Given the description of an element on the screen output the (x, y) to click on. 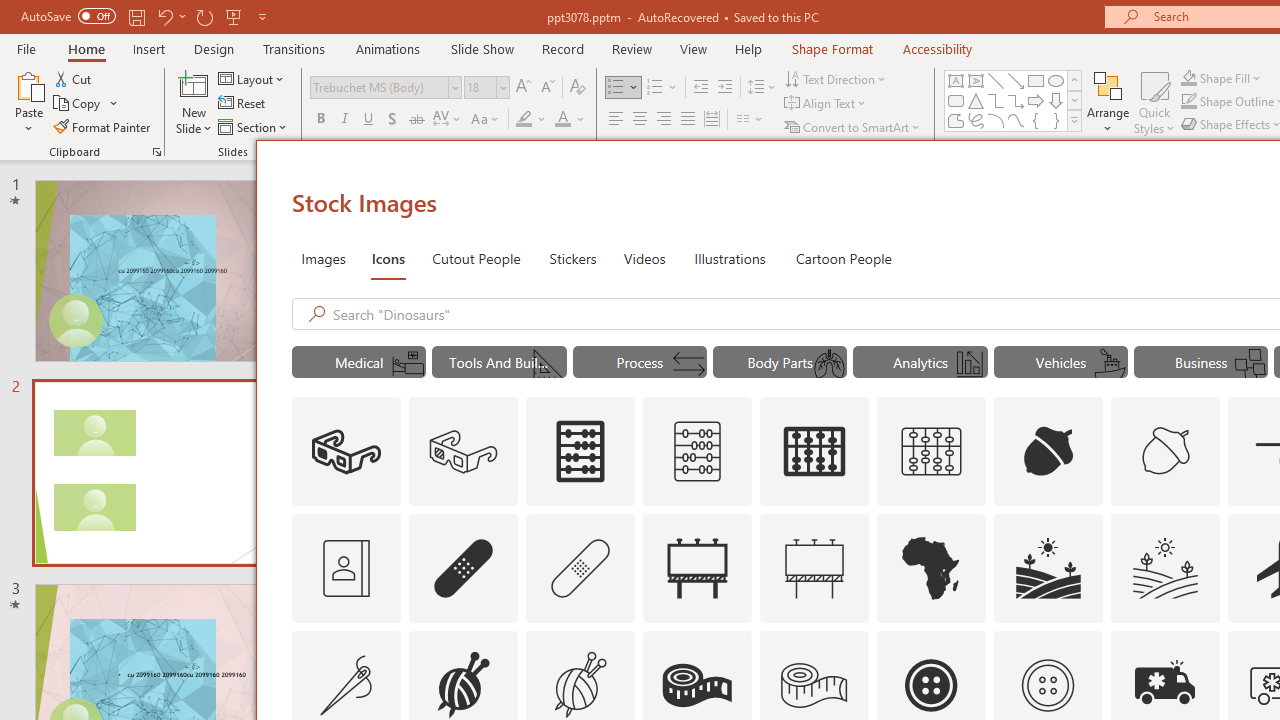
AutomationID: Icons_Acorn (1048, 452)
AutomationID: Icons_Advertising_M (815, 568)
AutomationID: Icons_Transfer_M (688, 364)
AutomationID: Icons_TugBoat_M (1109, 364)
AutomationID: Icons_Africa (931, 568)
